Given the description of an element on the screen output the (x, y) to click on. 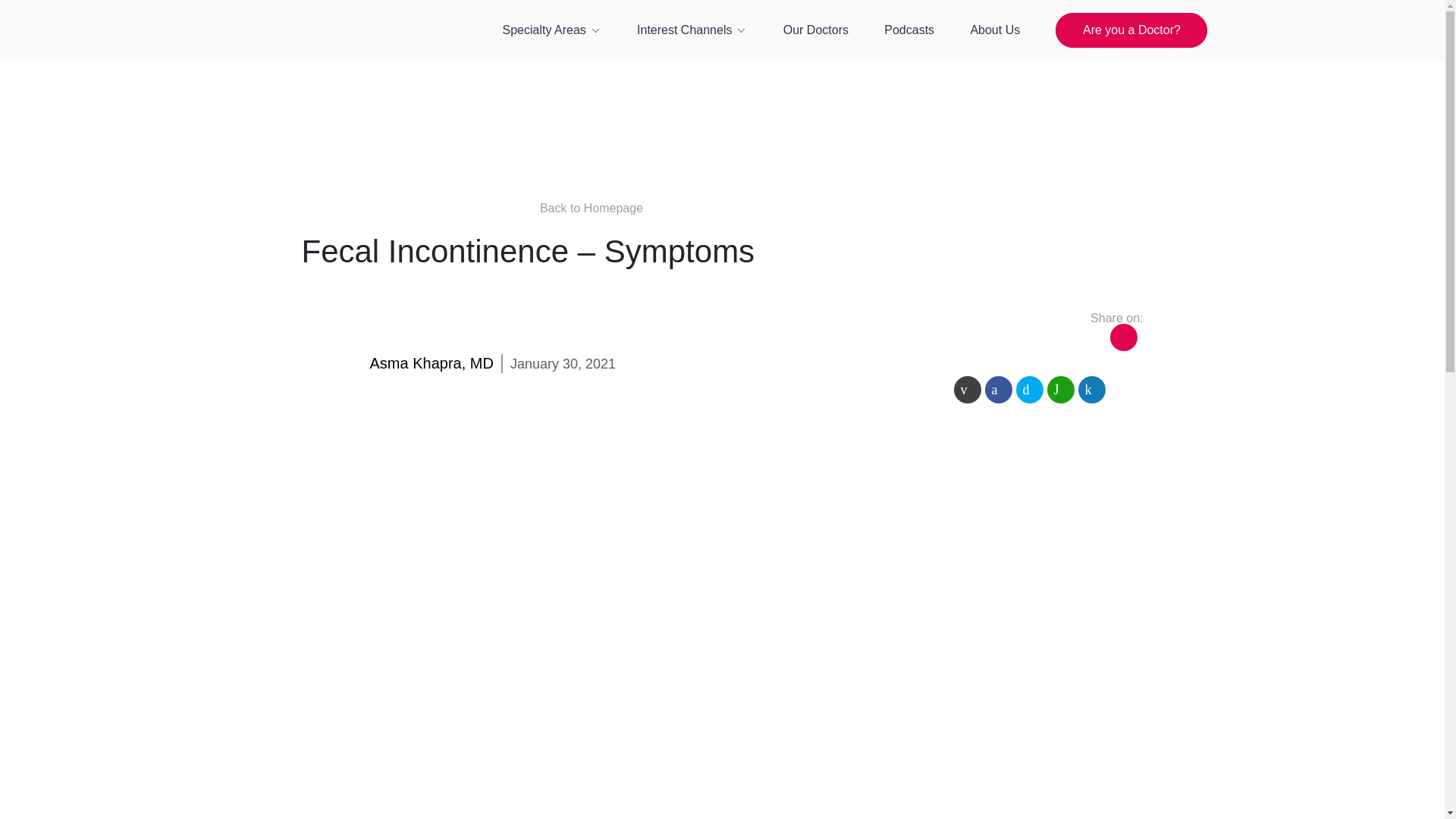
Are you a Doctor? (1131, 30)
Share on Twitter (1029, 389)
Share on Email (967, 389)
Our Doctors (815, 29)
Share on LinkedIn (1091, 389)
About Us (994, 29)
Doctorpedia (316, 56)
Podcasts (908, 29)
Share on WhatsApp (1060, 389)
Specialty Areas (550, 29)
Share on Facebook (997, 389)
Copy Link (1123, 337)
Interest Channels (691, 29)
